Given the description of an element on the screen output the (x, y) to click on. 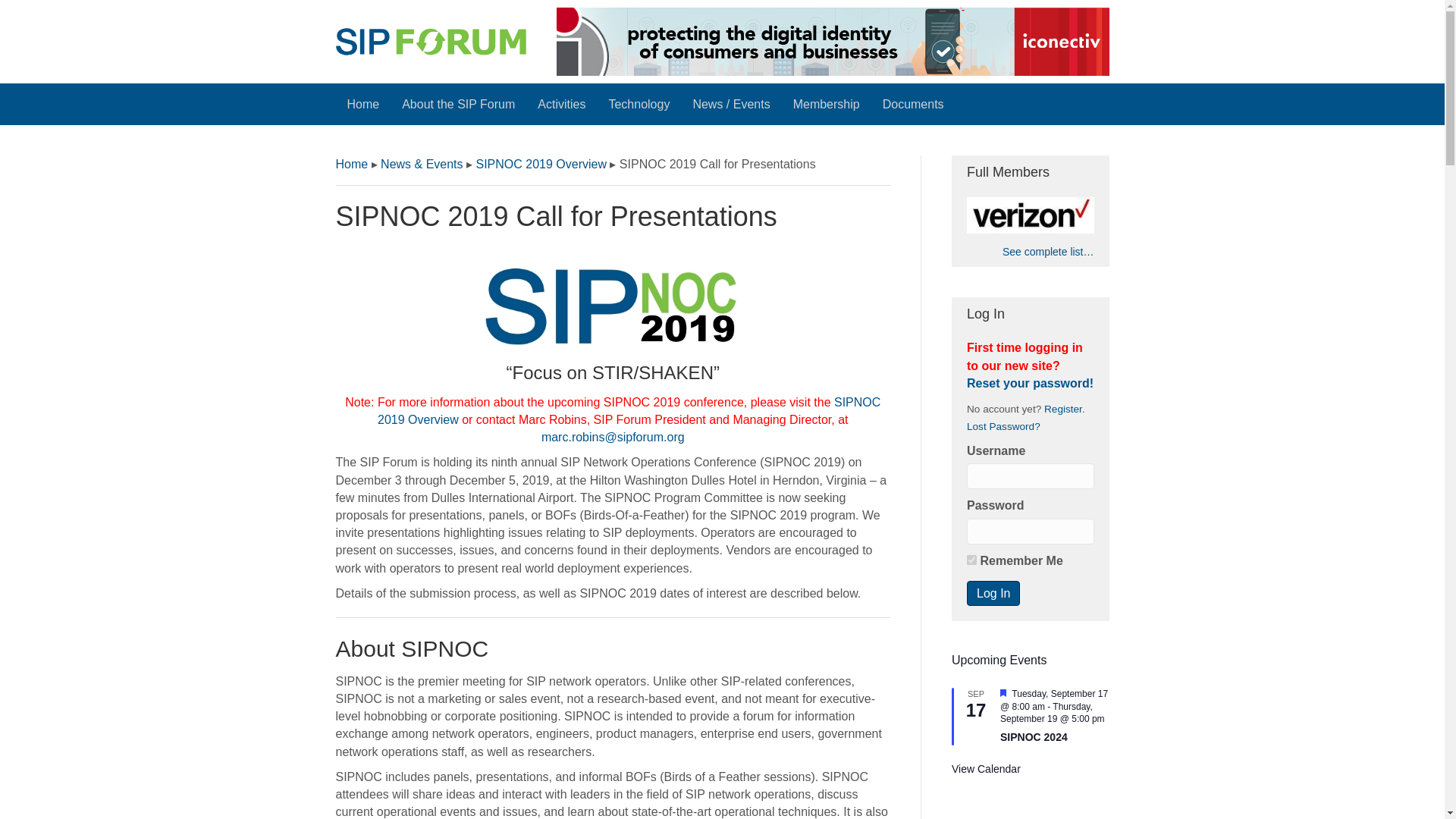
View more events. (986, 768)
Home (363, 104)
About the SIP Forum (458, 104)
forever (971, 560)
Go to SIPNOC 2019 Overview. (541, 164)
Log In (993, 593)
SIPNOC 2024 (1033, 737)
Go to SIP Forum. (351, 164)
